Given the description of an element on the screen output the (x, y) to click on. 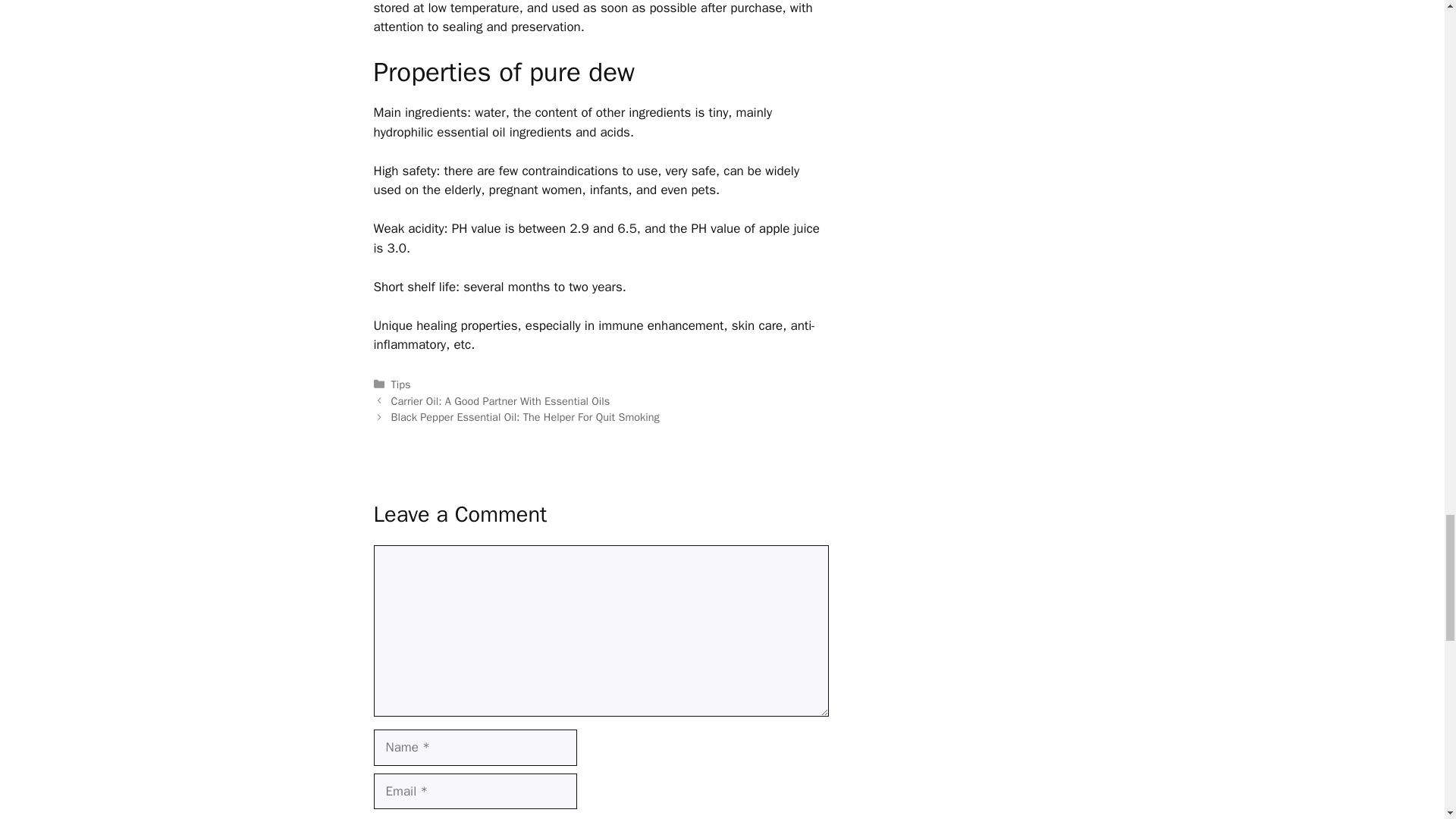
Disclosure (1005, 473)
Post Comment (432, 18)
Privacy Policy (923, 473)
About (856, 473)
Post Comment (432, 18)
Contact Us (333, 404)
